Given the description of an element on the screen output the (x, y) to click on. 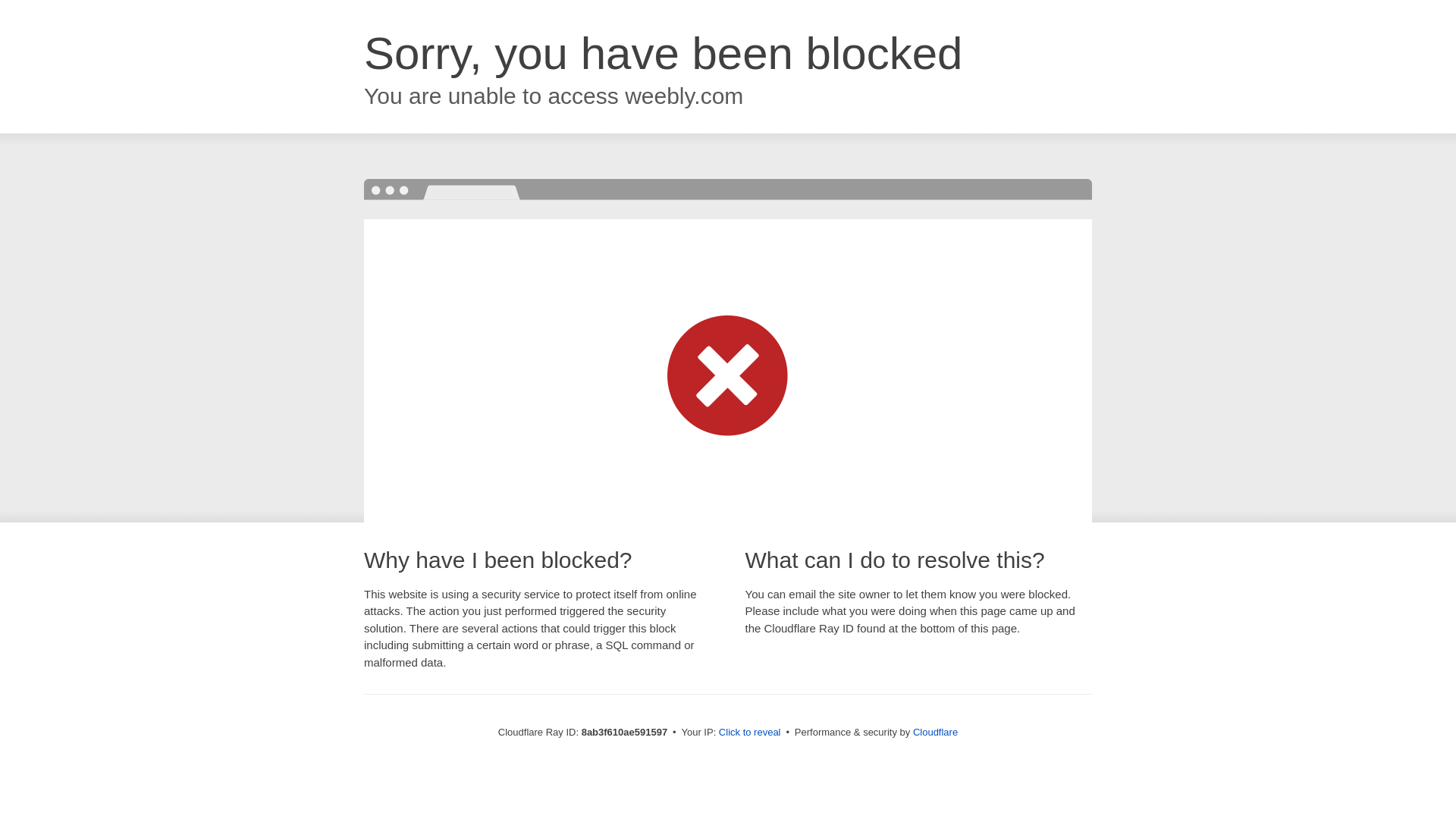
Click to reveal (749, 732)
Cloudflare (935, 731)
